Given the description of an element on the screen output the (x, y) to click on. 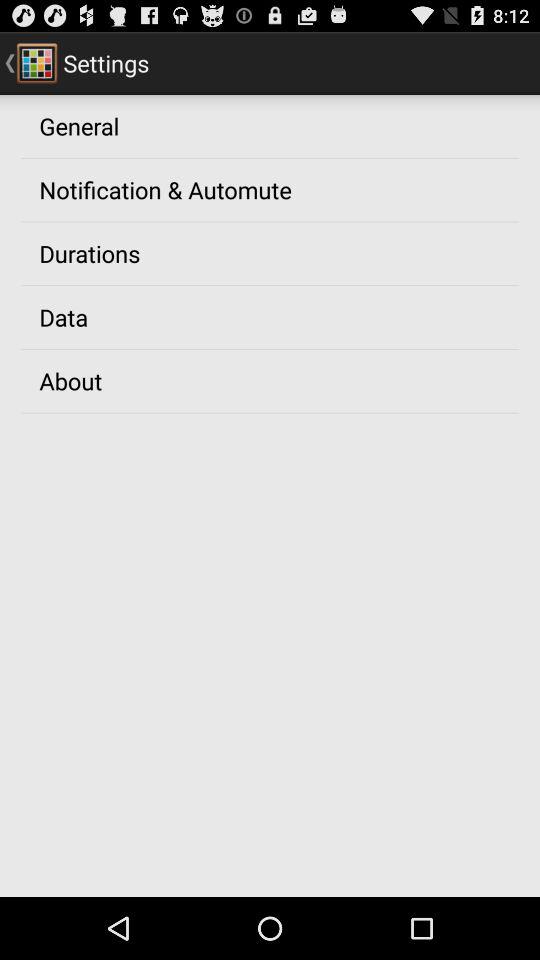
turn off app on the left (70, 380)
